Given the description of an element on the screen output the (x, y) to click on. 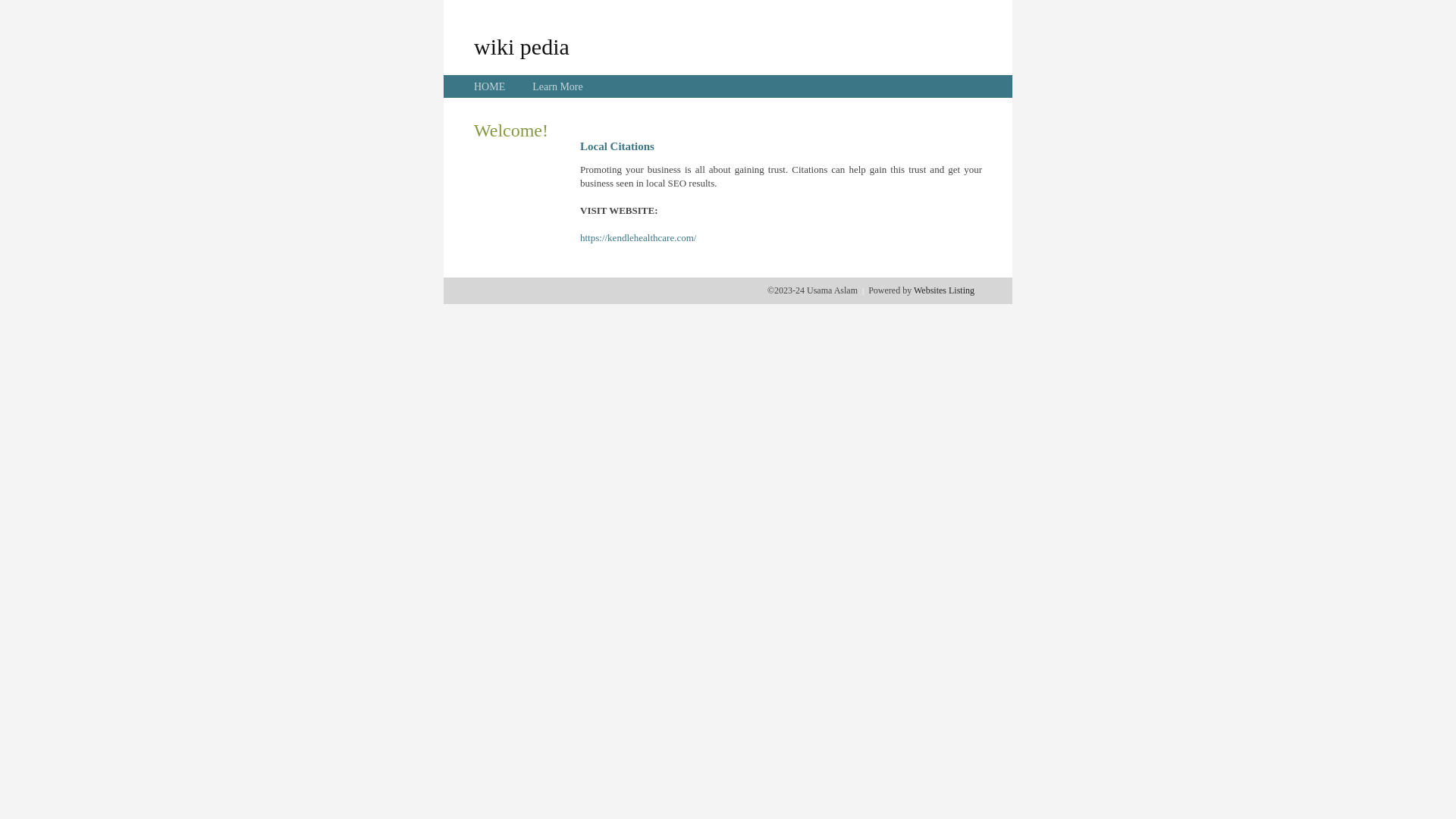
Learn More Element type: text (557, 86)
HOME Element type: text (489, 86)
Websites Listing Element type: text (943, 290)
wiki pedia Element type: text (521, 46)
https://kendlehealthcare.com/ Element type: text (638, 237)
